Given the description of an element on the screen output the (x, y) to click on. 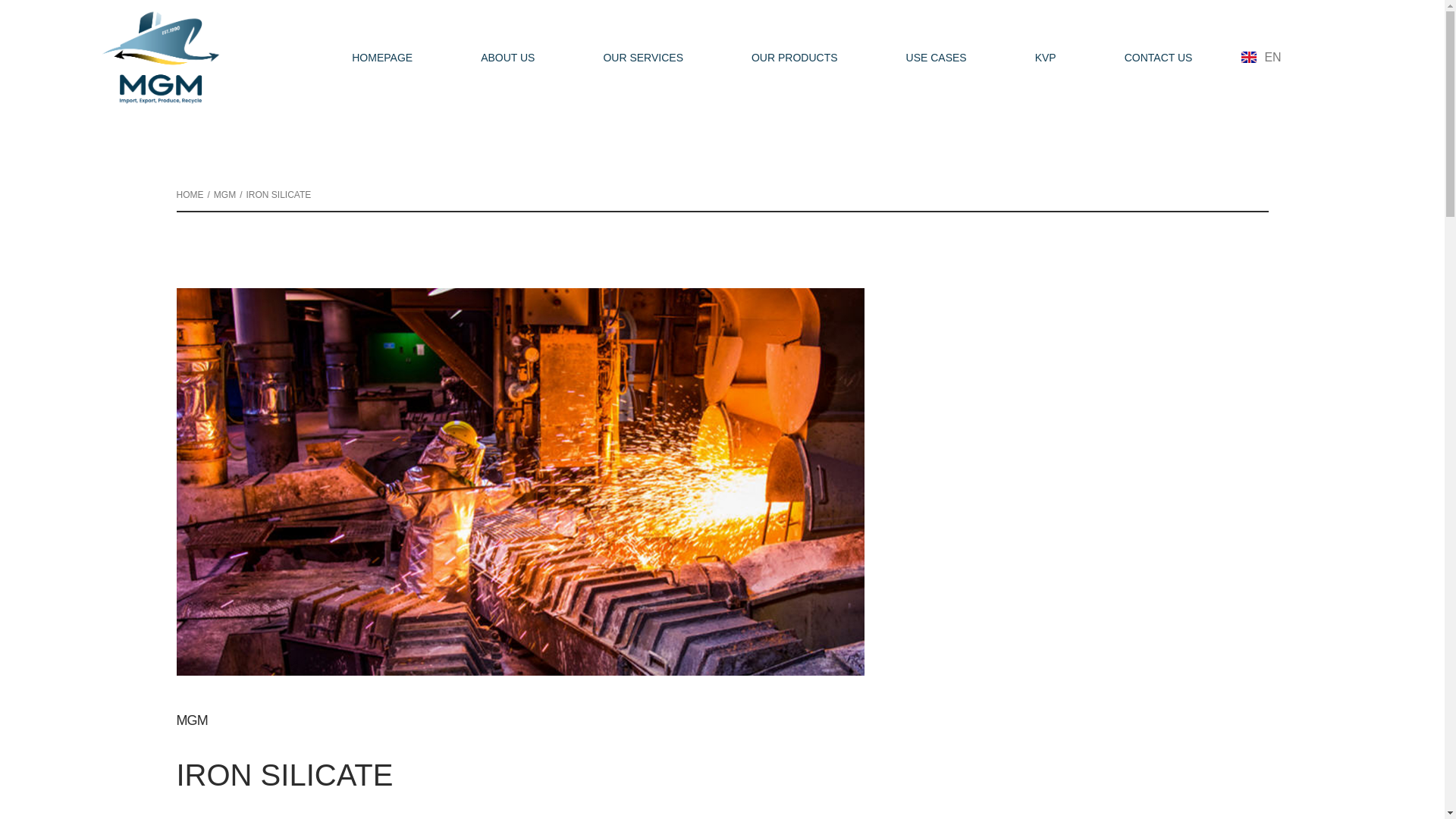
HOMEPAGE (381, 56)
KVP (1045, 56)
ABOUT US (507, 56)
OUR PRODUCTS (793, 56)
USE CASES (936, 56)
Home (189, 194)
OUR SERVICES (642, 56)
HOME (189, 194)
MGM (224, 194)
EN (1264, 56)
